Given the description of an element on the screen output the (x, y) to click on. 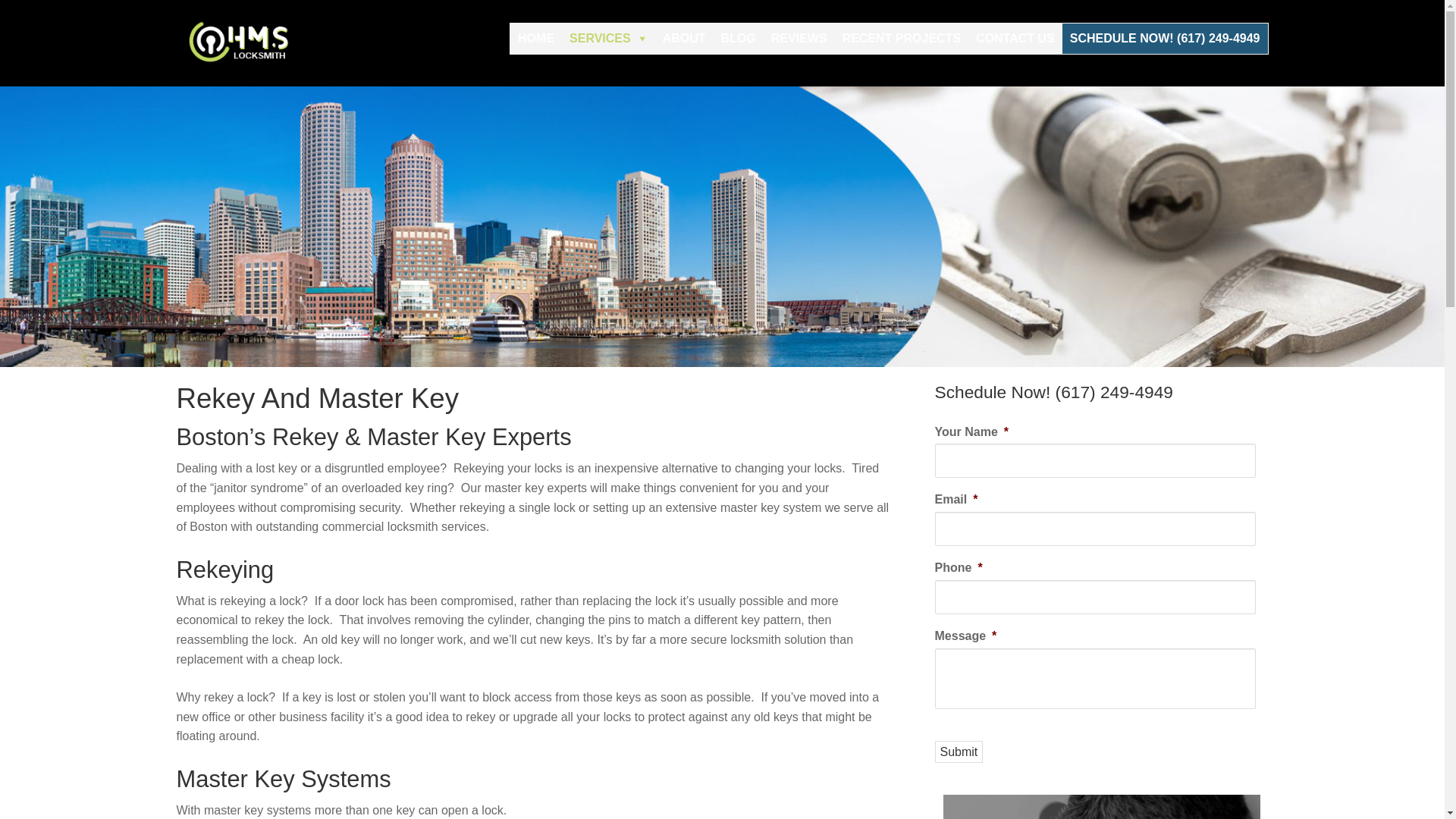
HMS Locksmith (251, 42)
BLOG (737, 38)
Submit (958, 752)
REVIEWS (798, 38)
ABOUT (684, 38)
SERVICES (608, 38)
CONTACT US (1015, 38)
RECENT PROJECTS (901, 38)
Submit (958, 752)
HOME (536, 38)
